Given the description of an element on the screen output the (x, y) to click on. 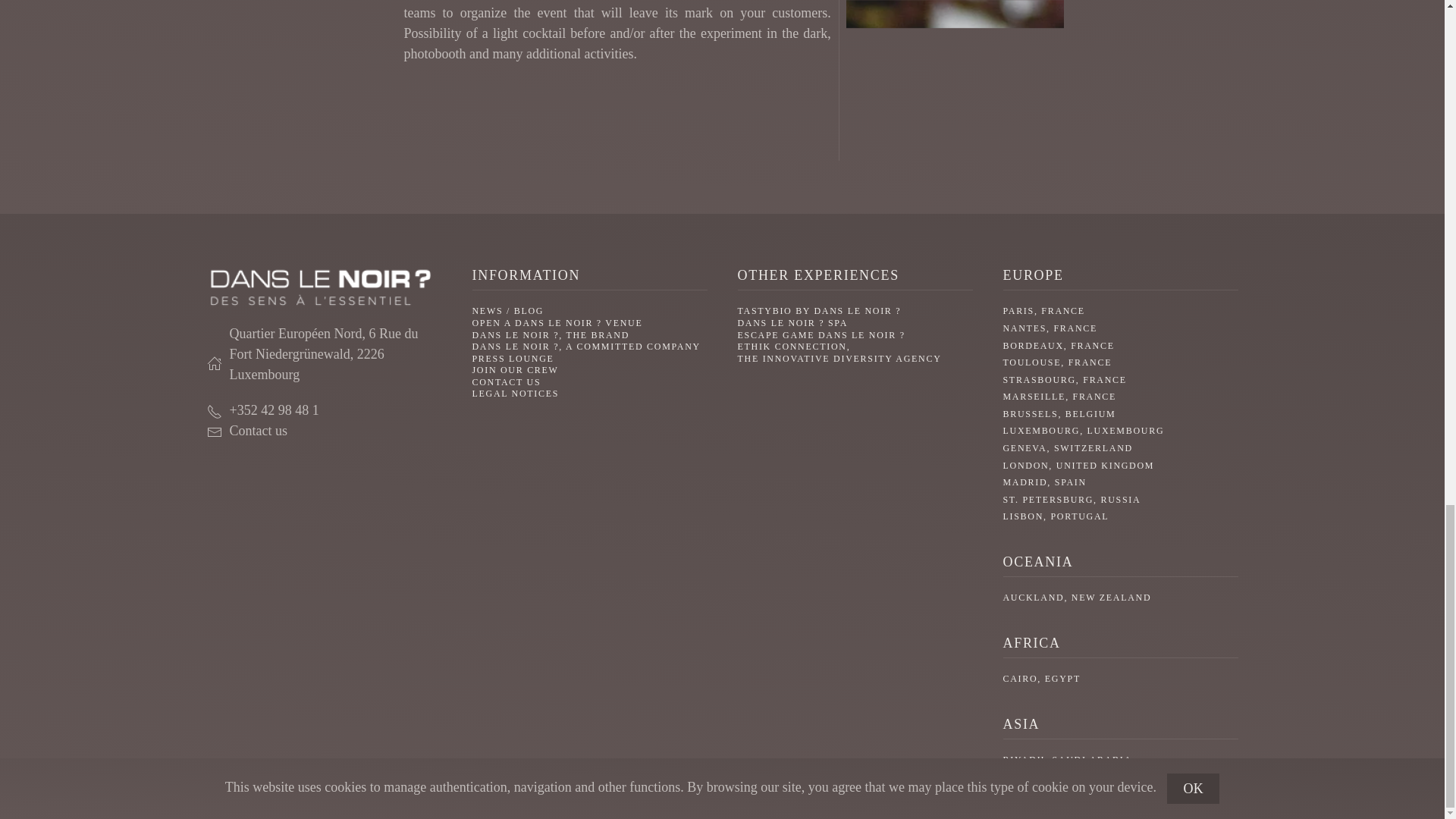
DANS LE NOIR ?, THE BRAND (549, 334)
Contact us (323, 430)
OPEN A DANS LE NOIR ? VENUE (556, 322)
DANS LE NOIR ?, A COMMITTED COMPANY (585, 346)
